Given the description of an element on the screen output the (x, y) to click on. 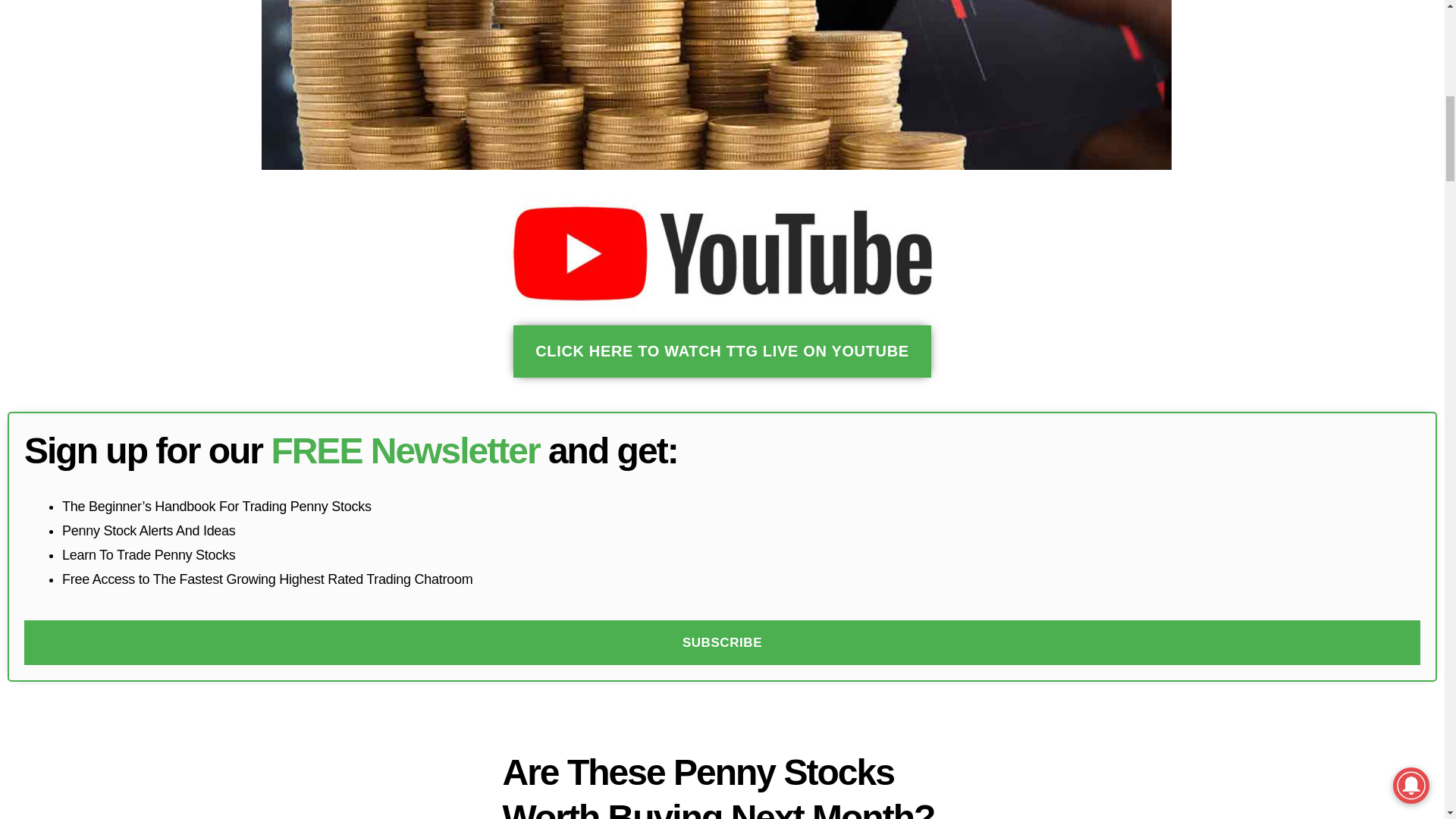
SUBSCRIBE (722, 642)
CLICK HERE TO WATCH TTG LIVE ON YOUTUBE (721, 351)
CLICK HERE TO WATCH TTG LIVE ON YOUTUBE (721, 351)
